Given the description of an element on the screen output the (x, y) to click on. 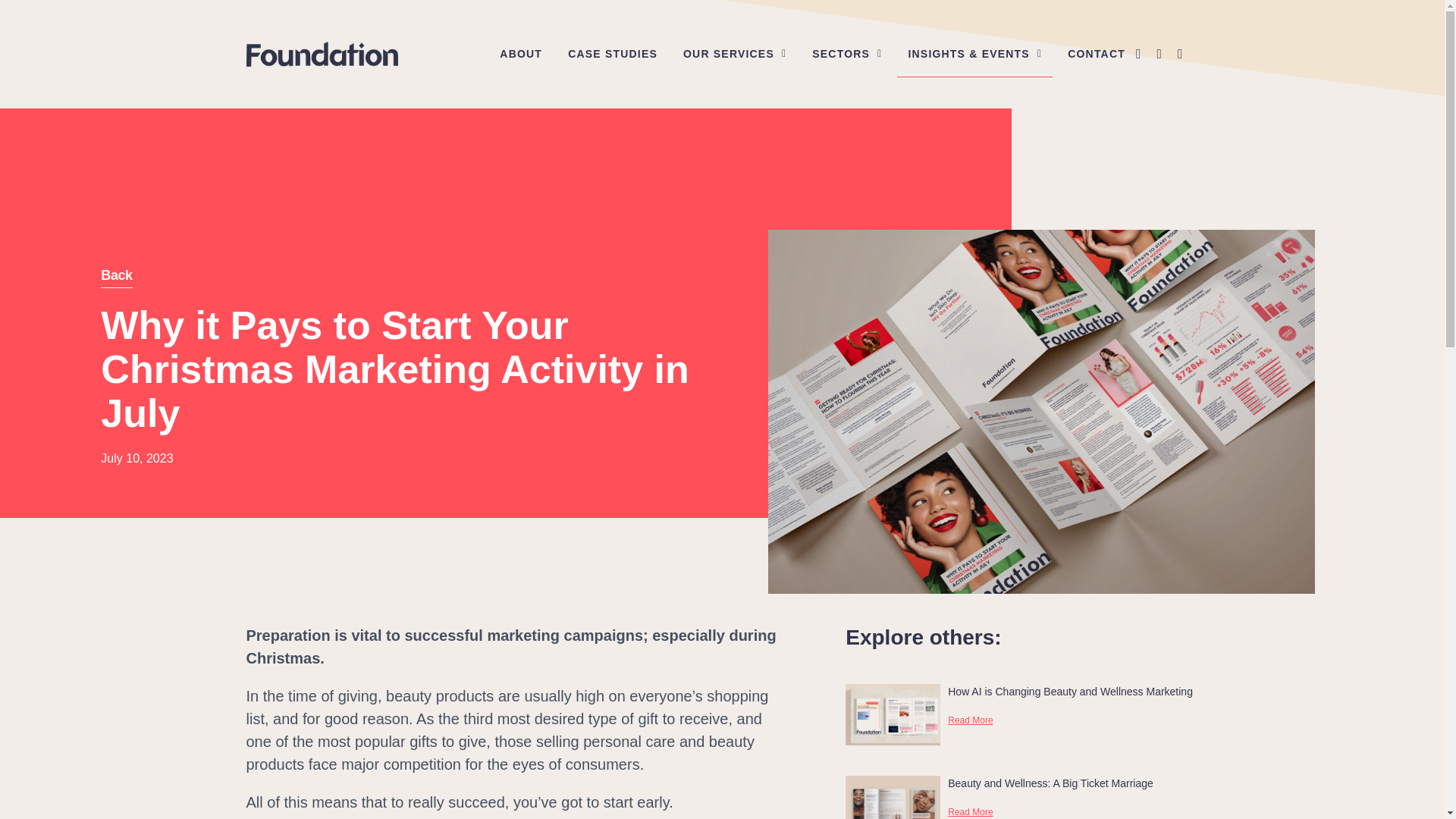
ABOUT (521, 53)
SECTORS (847, 53)
CONTACT (1096, 53)
OUR SERVICES (734, 53)
CASE STUDIES (612, 53)
